Given the description of an element on the screen output the (x, y) to click on. 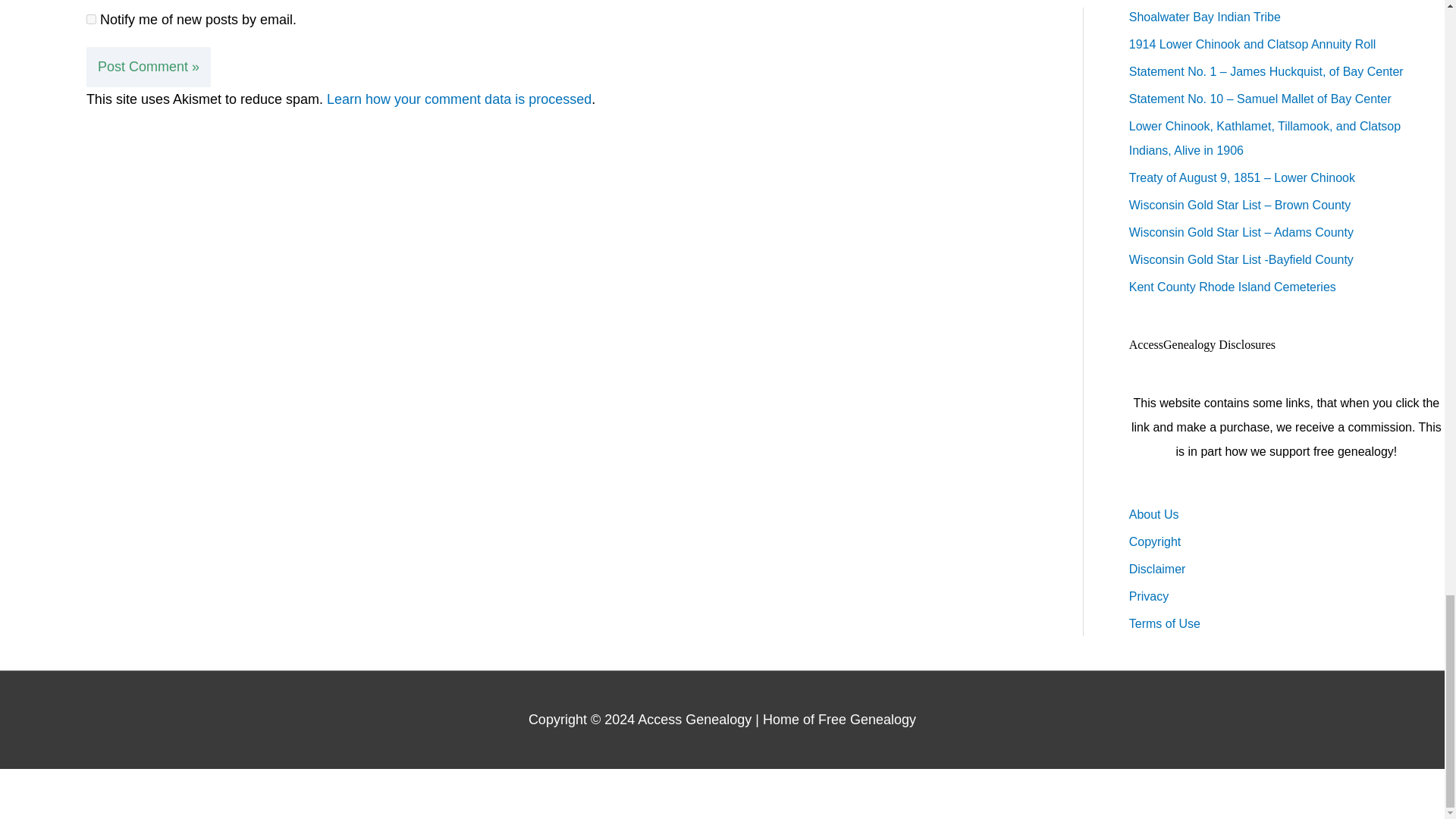
Learn how your comment data is processed (458, 99)
subscribe (90, 19)
